Given the description of an element on the screen output the (x, y) to click on. 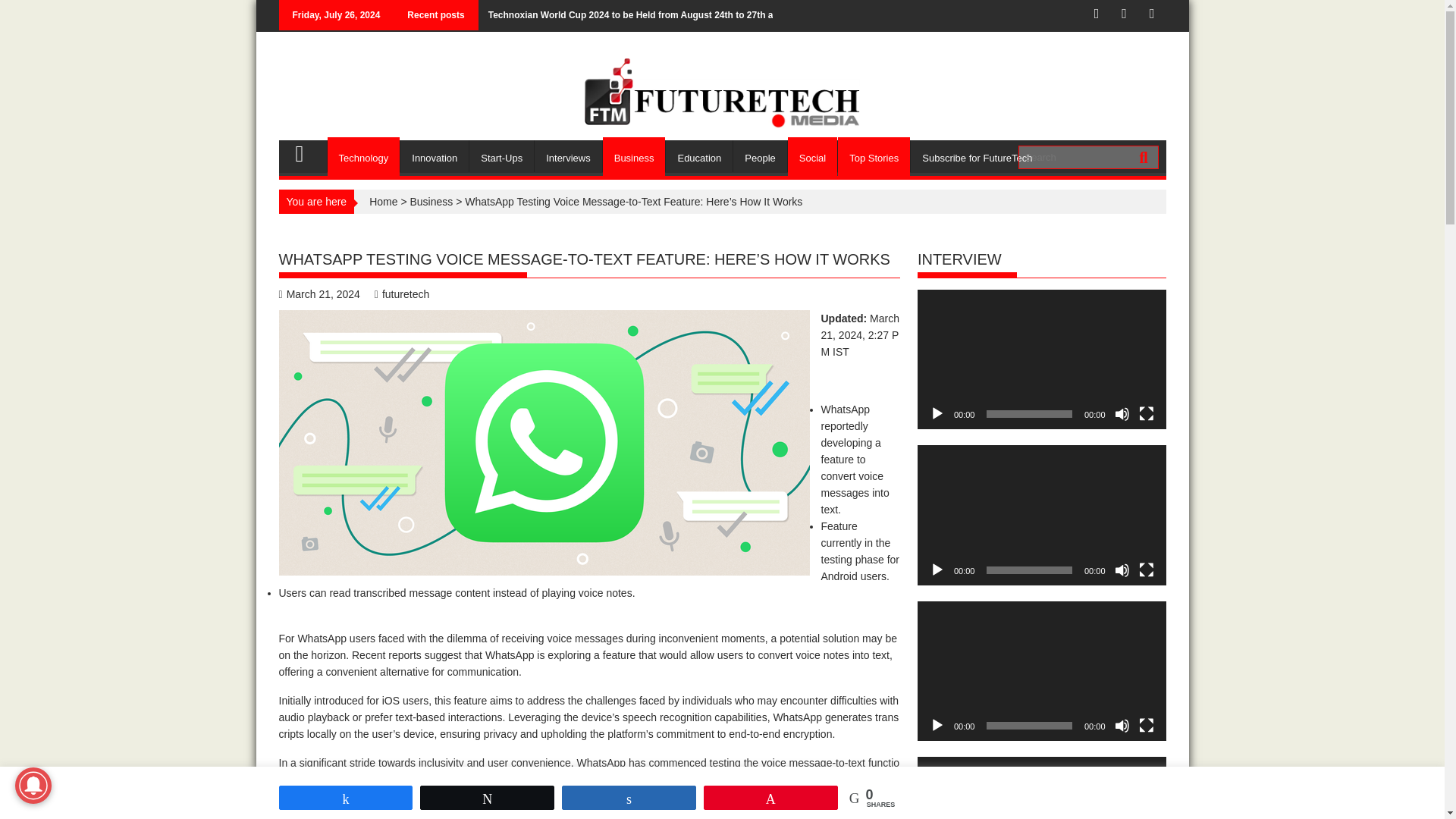
Interviews (568, 158)
People (759, 158)
Social (812, 158)
Innovation (434, 158)
Education (698, 158)
Start-Ups (501, 158)
FutureTech (306, 151)
Technology (363, 158)
Business (633, 158)
Home (383, 201)
Top Stories (874, 158)
Subscribe for FutureTech (977, 158)
